Given the description of an element on the screen output the (x, y) to click on. 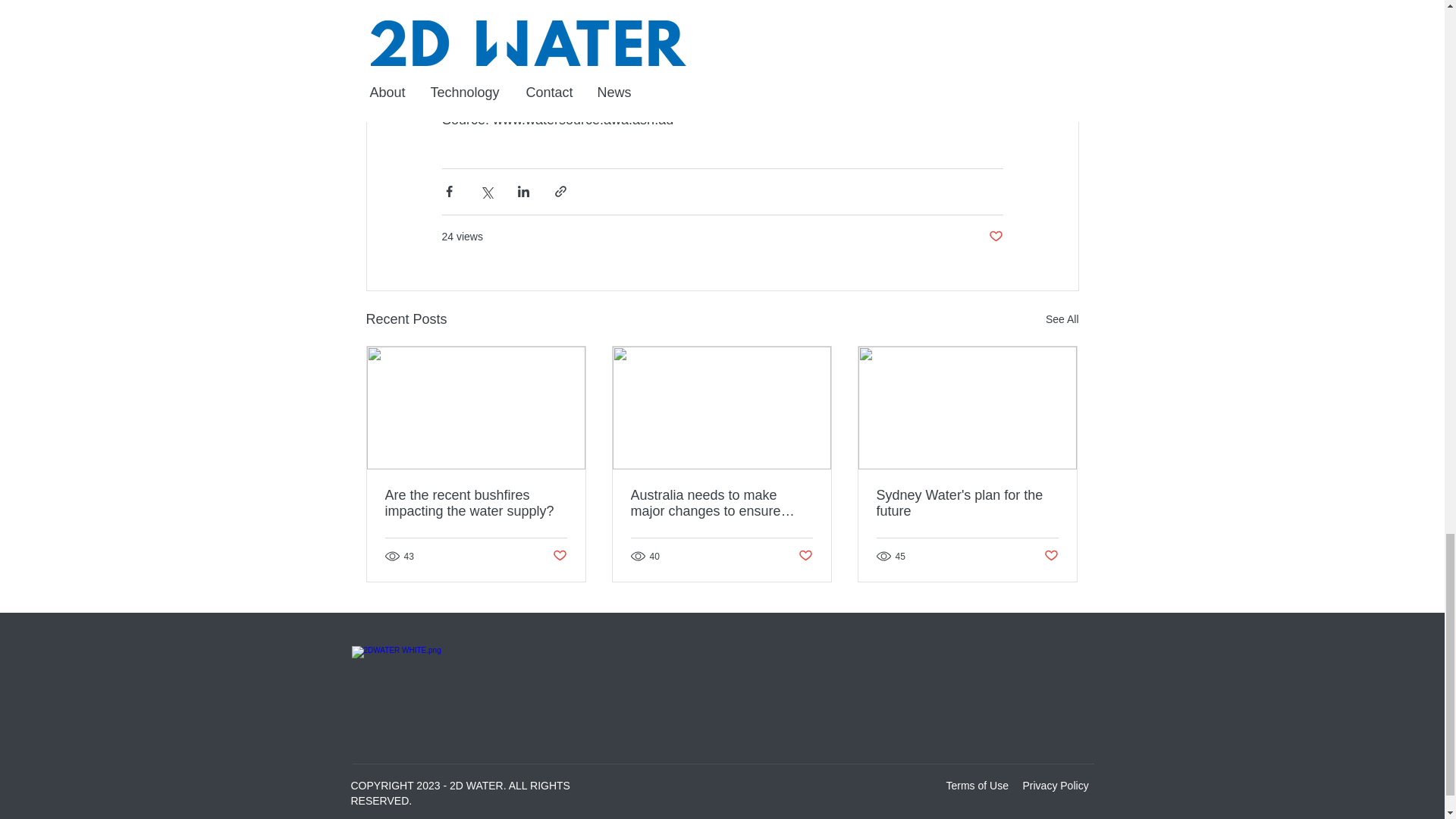
Post not marked as liked (995, 236)
Post not marked as liked (804, 555)
Terms of Use (977, 785)
See All (1061, 319)
Sydney Water's plan for the future (967, 503)
Privacy Policy (1054, 785)
Are the recent bushfires impacting the water supply? (476, 503)
Post not marked as liked (1050, 555)
Post not marked as liked (558, 555)
